Given the description of an element on the screen output the (x, y) to click on. 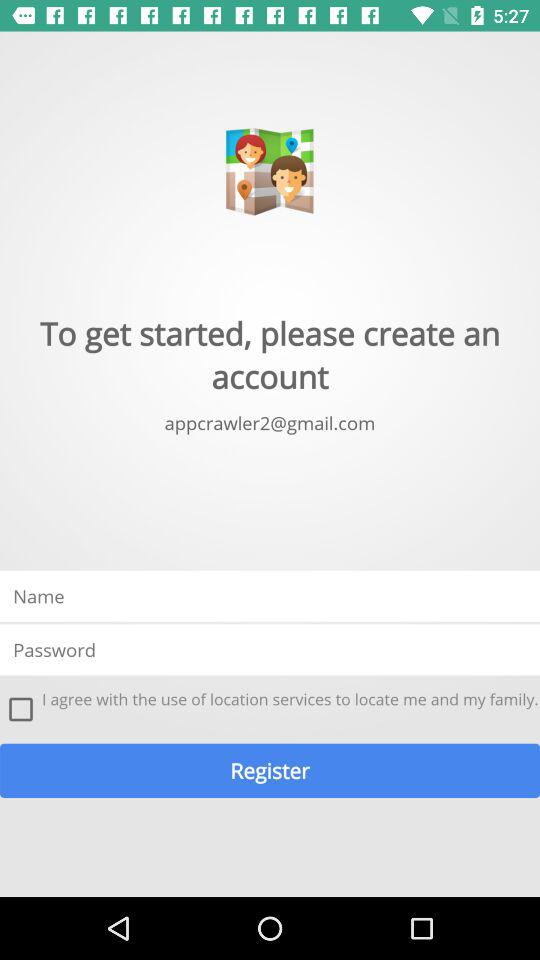
launch register (270, 770)
